Given the description of an element on the screen output the (x, y) to click on. 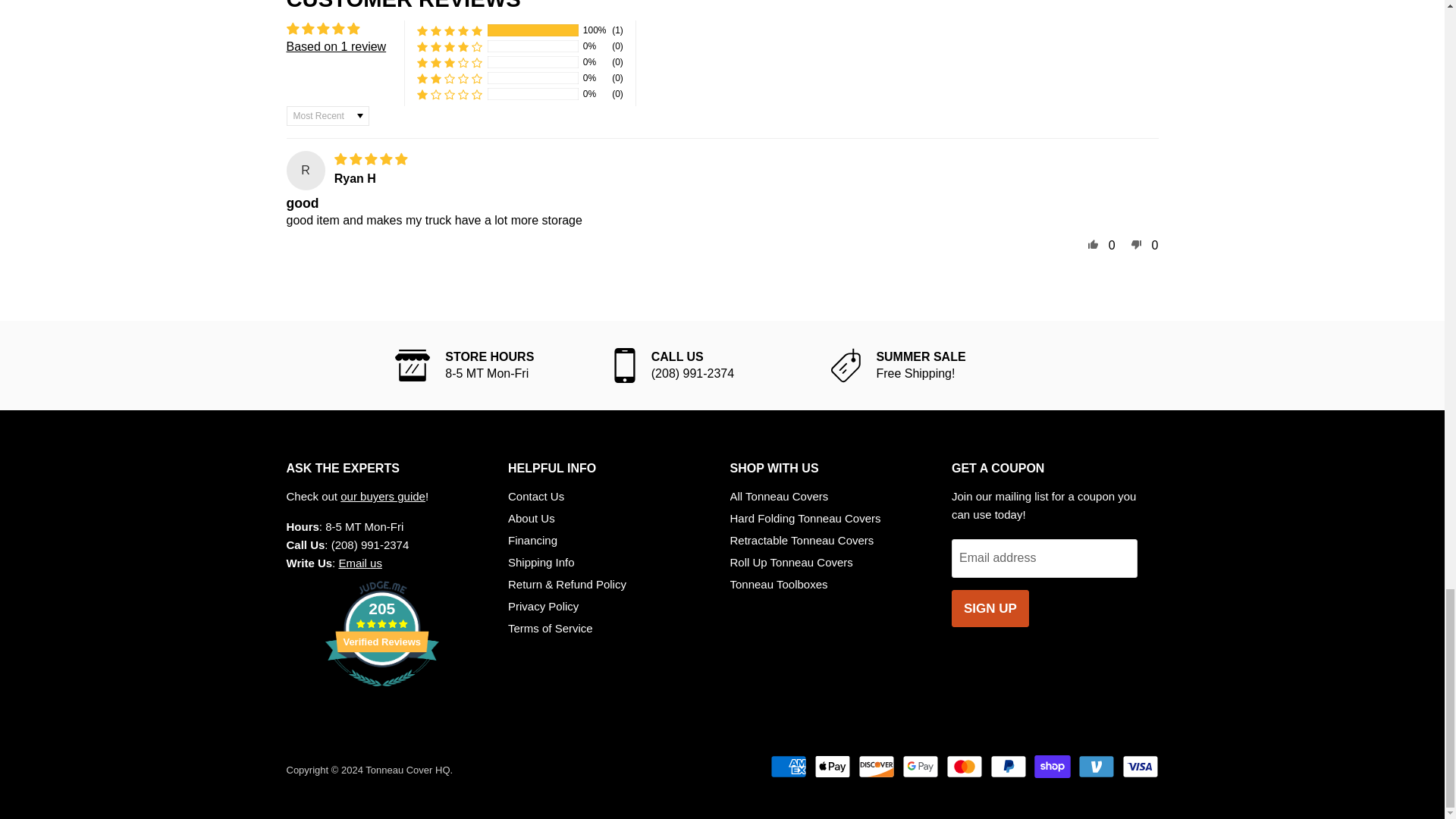
PayPal (1008, 766)
American Express (788, 766)
Apple Pay (831, 766)
up (1093, 243)
Discover (877, 766)
Shop Pay (1051, 766)
Venmo (1096, 766)
Mastercard (964, 766)
Google Pay (920, 766)
down (1136, 243)
Choose the Best Tonneau Cover for Your Truck (382, 495)
Contact Us (359, 562)
